Given the description of an element on the screen output the (x, y) to click on. 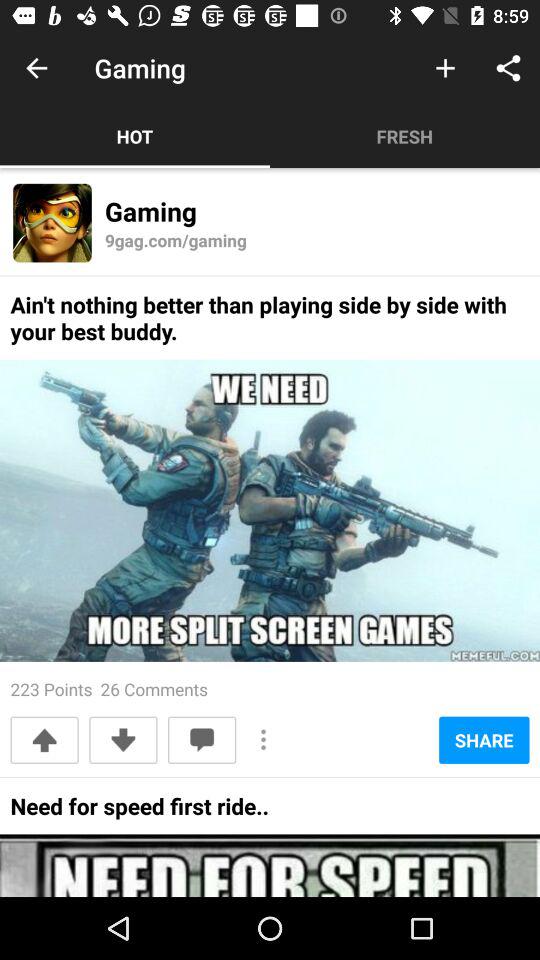
select the icon below 223 points 	26 icon (123, 739)
